Given the description of an element on the screen output the (x, y) to click on. 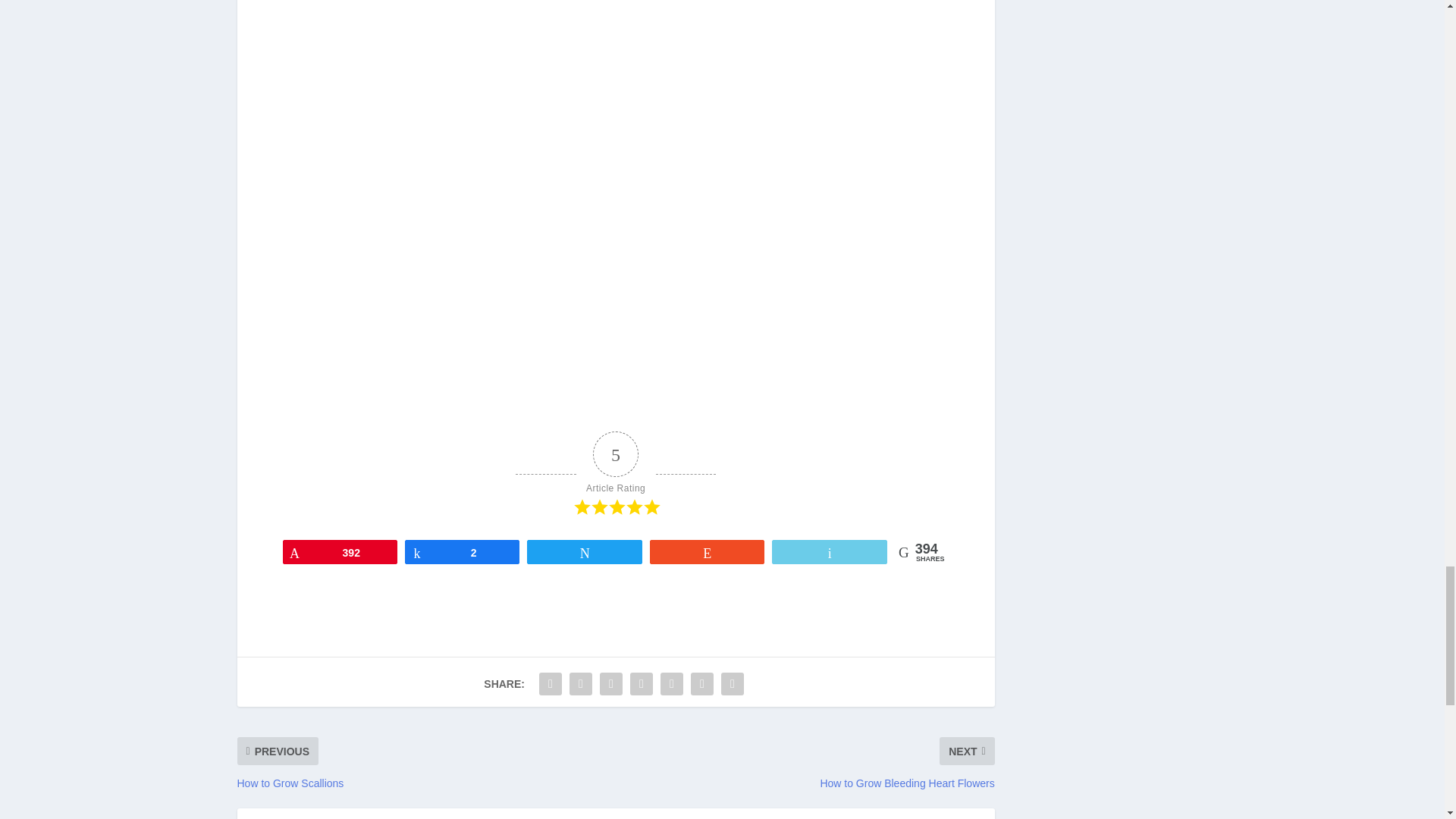
2 (462, 551)
392 (339, 551)
